Given the description of an element on the screen output the (x, y) to click on. 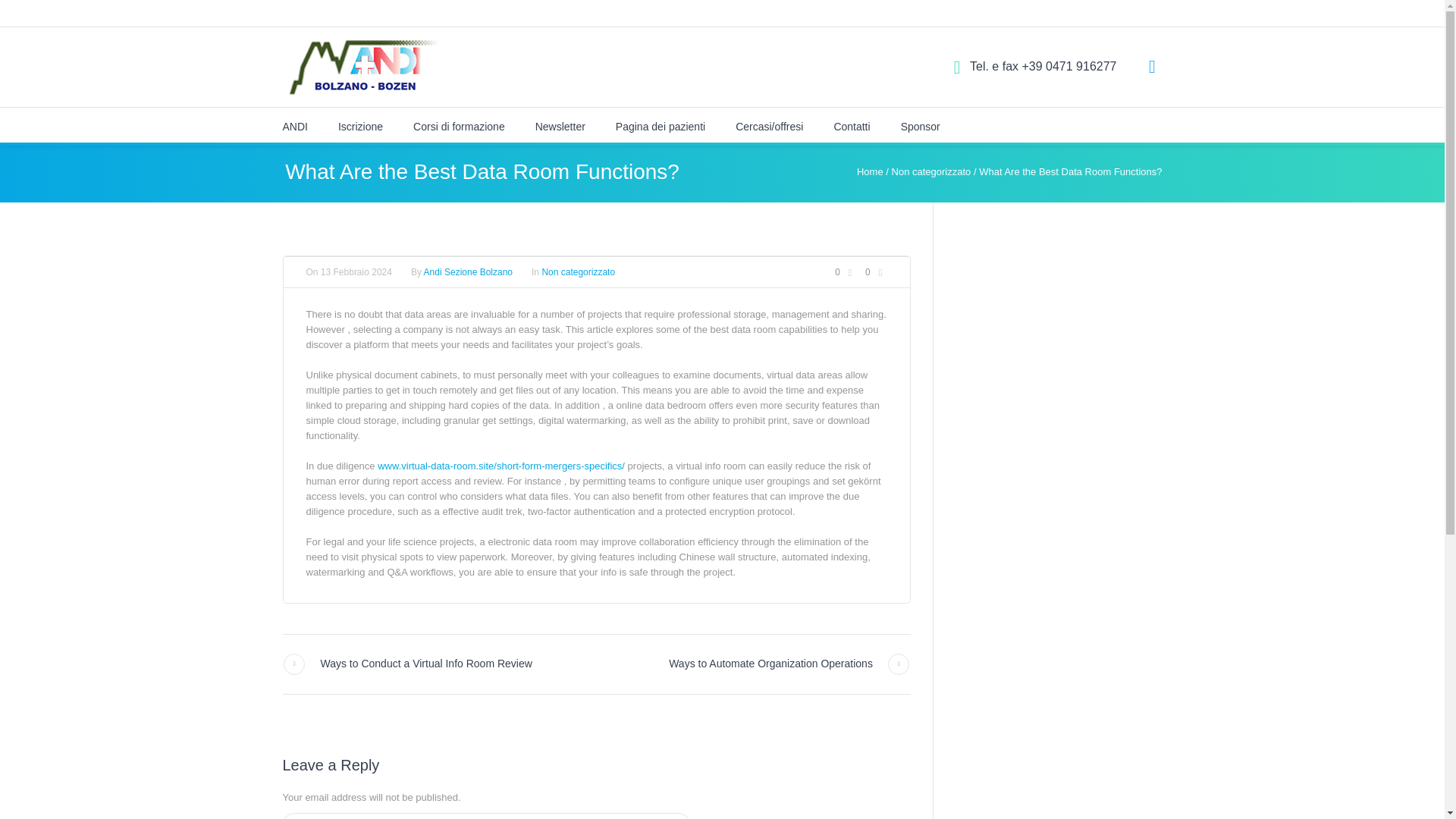
Sponsor (920, 126)
Corsi di formazione (459, 126)
Contatti (850, 126)
13 Febbraio 2024 (355, 272)
Non categorizzato (577, 271)
Comment on What Are the Best Data Room Functions? (845, 272)
Andi Sezione Bolzano (467, 271)
0 (875, 272)
Iscrizione (359, 126)
Posts by Andi Sezione Bolzano (467, 271)
Newsletter (560, 126)
Pagina dei pazienti (659, 126)
Non categorizzato (931, 171)
Home (870, 171)
0 (845, 272)
